Given the description of an element on the screen output the (x, y) to click on. 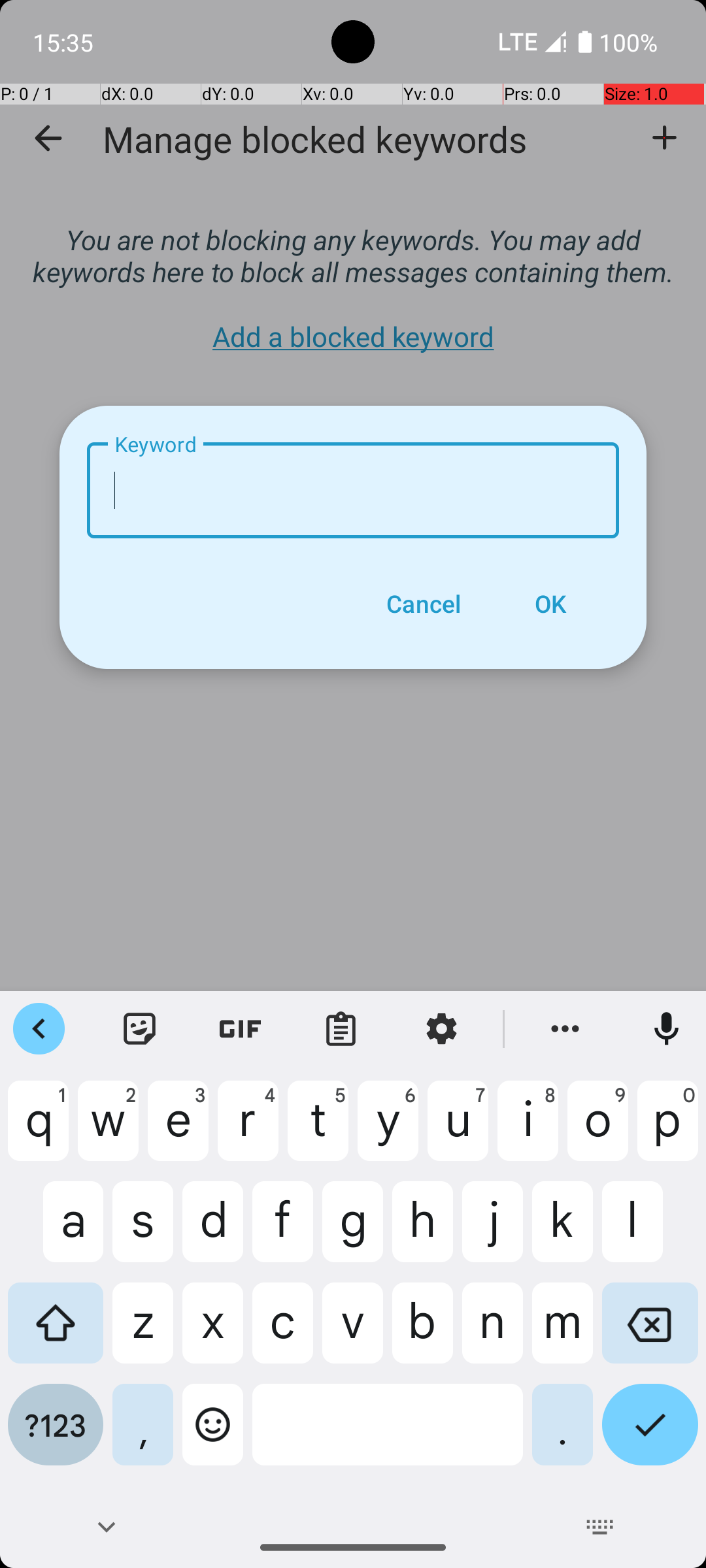
Keyword Element type: android.widget.EditText (352, 490)
